Given the description of an element on the screen output the (x, y) to click on. 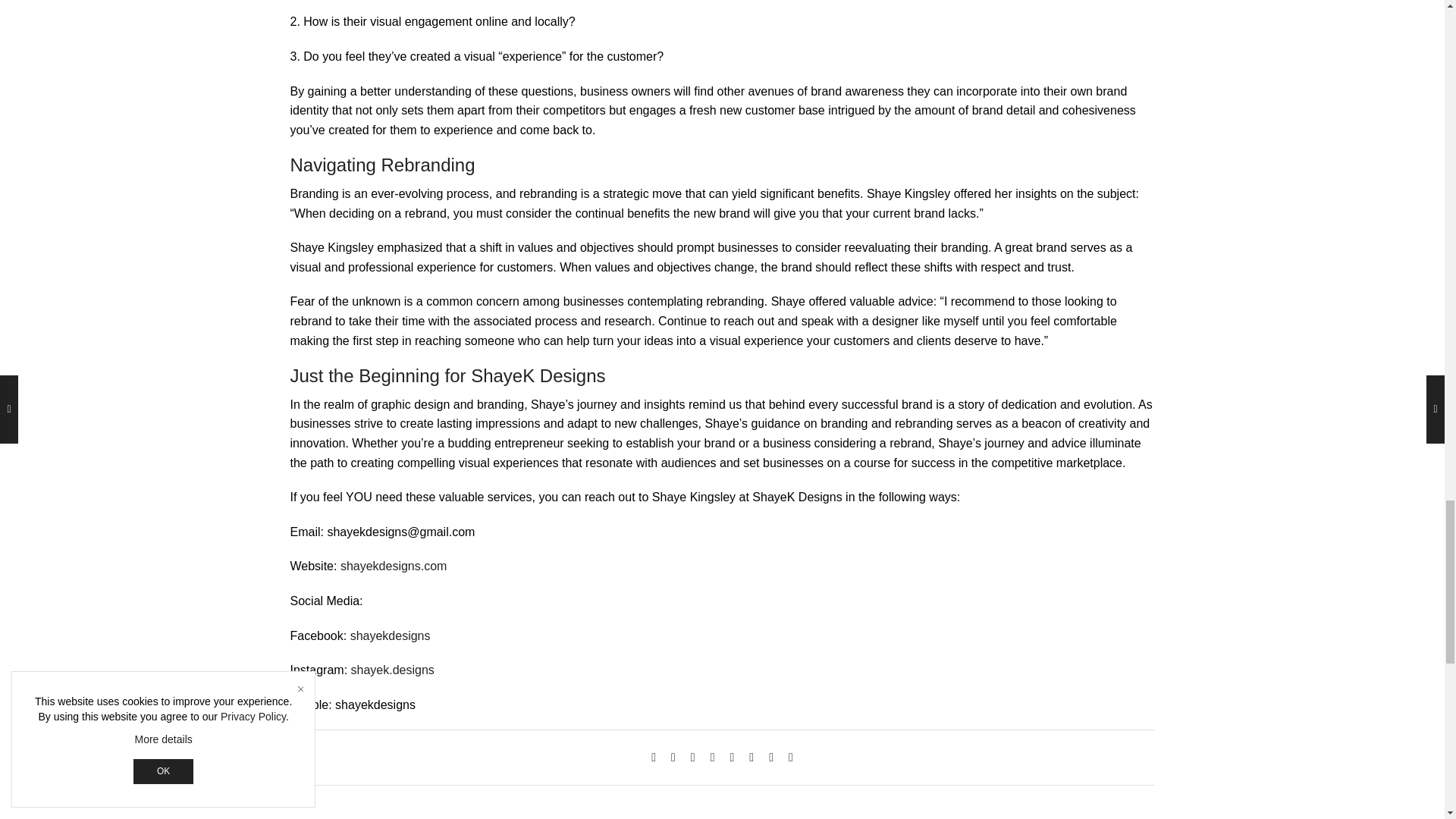
shayekdesigns.com (393, 565)
shayek.designs (391, 669)
VK (692, 756)
shayekdesigns (390, 635)
Pinterest (712, 756)
Facebook (672, 756)
